Given the description of an element on the screen output the (x, y) to click on. 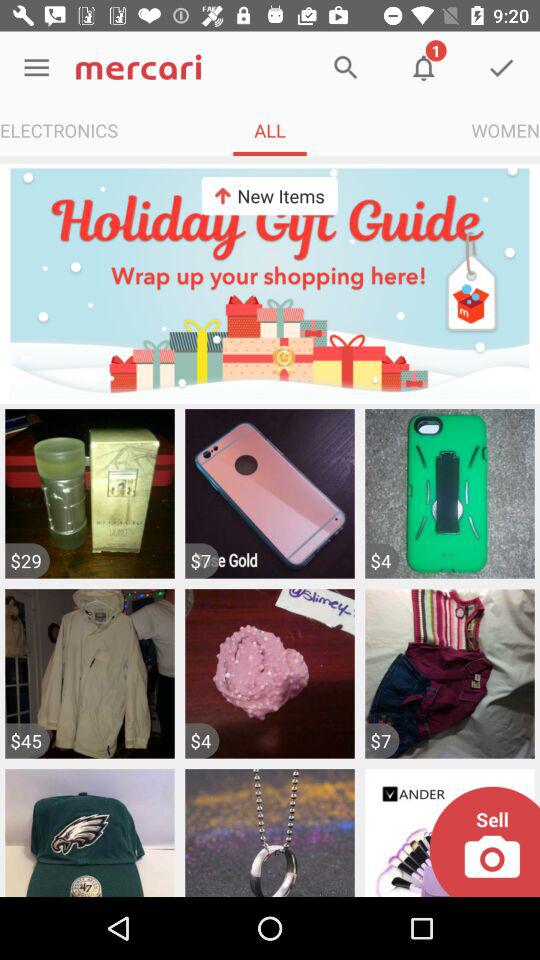
scroll to women app (505, 130)
